Given the description of an element on the screen output the (x, y) to click on. 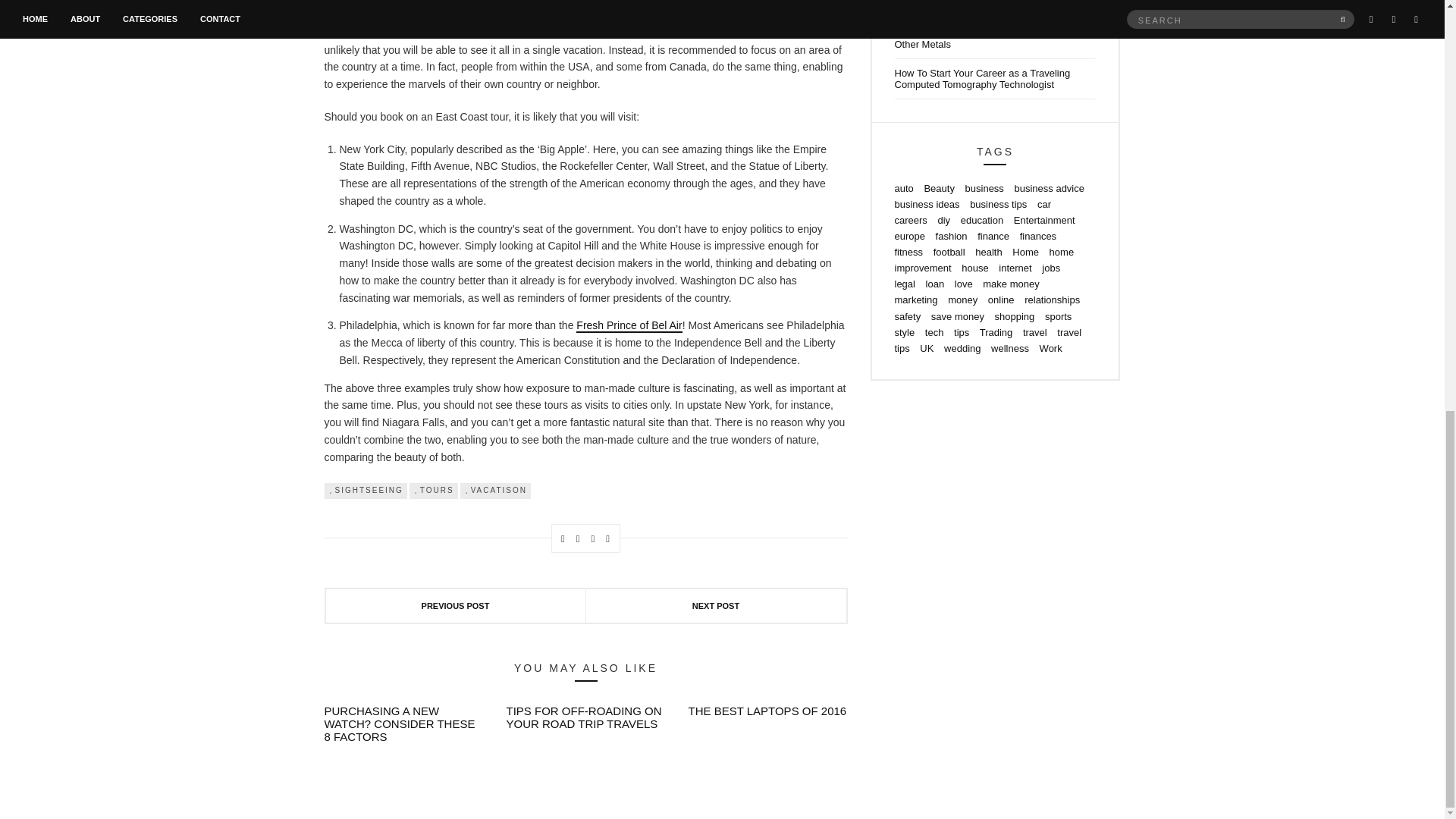
TOURS (433, 490)
PURCHASING A NEW WATCH? CONSIDER THESE 8 FACTORS (400, 723)
PREVIOUS POST (456, 605)
SIGHTSEEING (365, 490)
Fresh Prince of Bel Air (628, 325)
VACATISON (495, 490)
NEXT POST (715, 605)
